Given the description of an element on the screen output the (x, y) to click on. 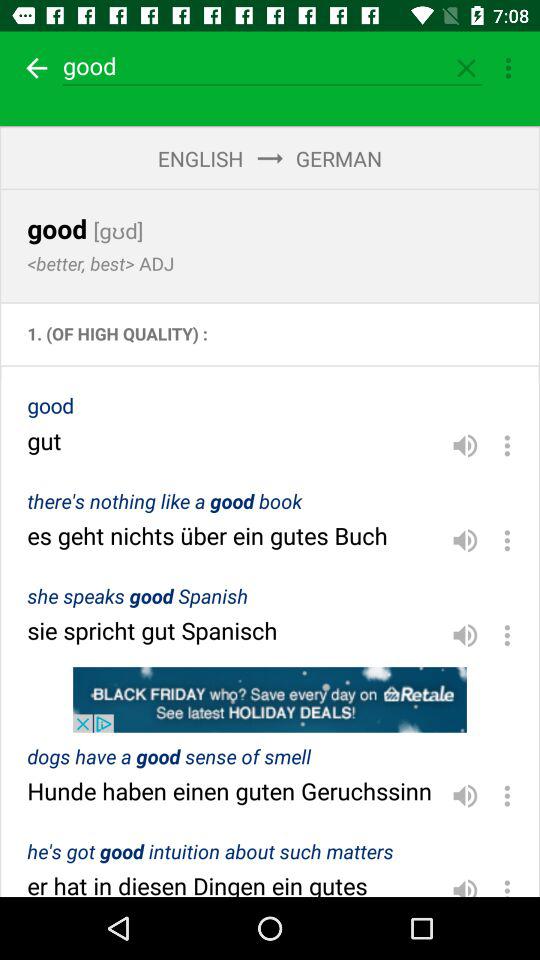
go to advertisement (269, 699)
